Given the description of an element on the screen output the (x, y) to click on. 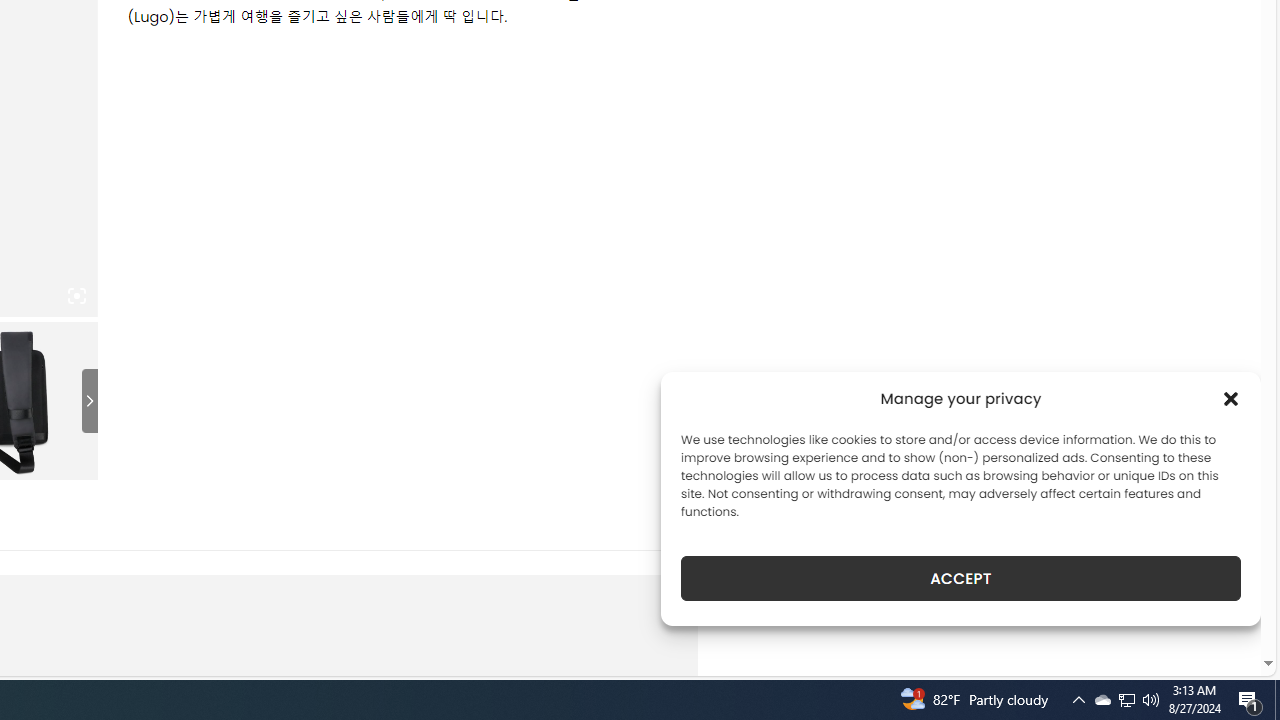
Class: iconic-woothumbs-fullscreen (75, 296)
Class: cmplz-close (1231, 398)
ACCEPT (960, 578)
